Given the description of an element on the screen output the (x, y) to click on. 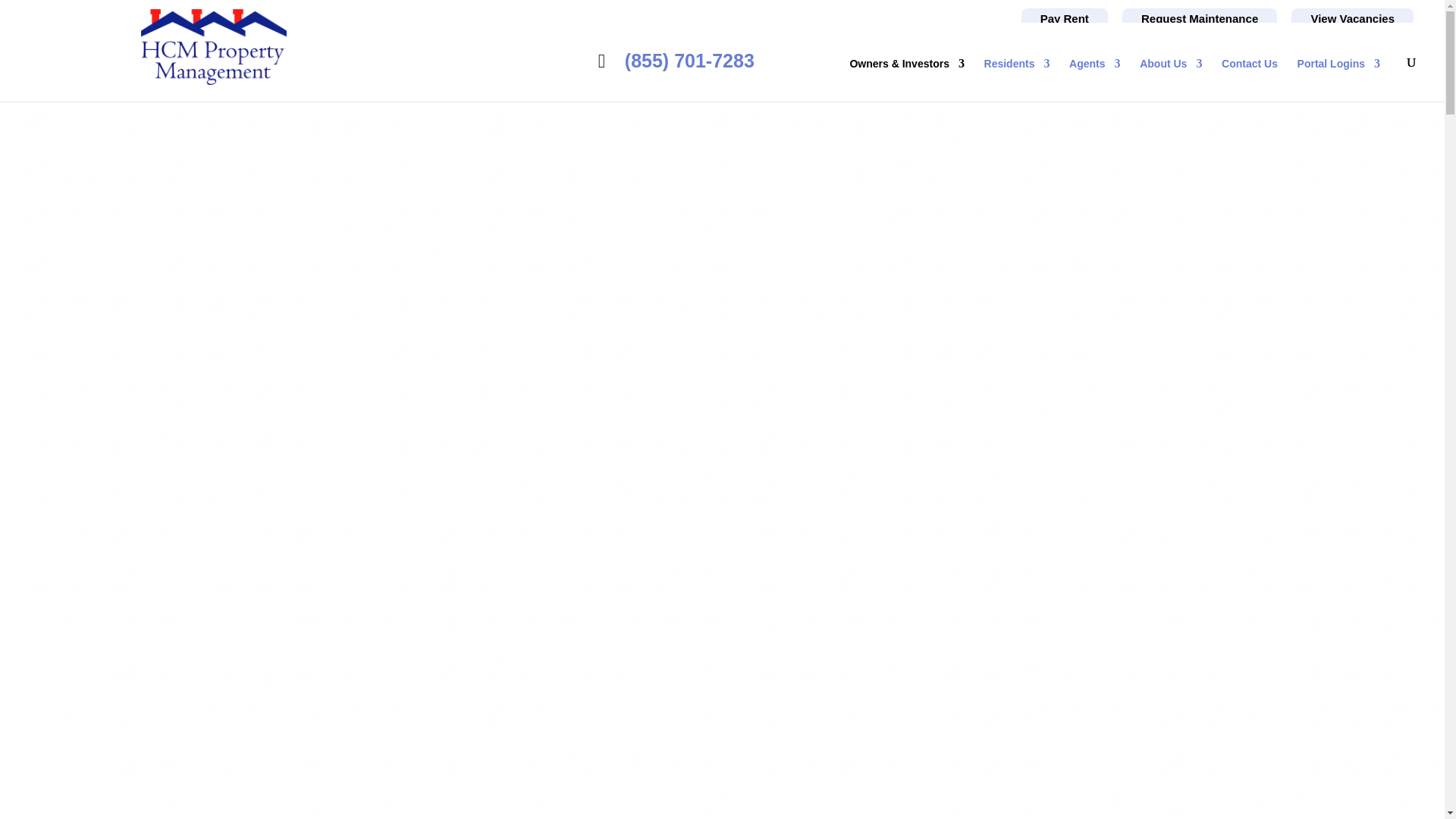
View Vacancies (1352, 18)
Request Maintenance (1199, 18)
Residents (1016, 79)
About Us (1171, 79)
Agents (1093, 79)
Pay Rent (1065, 18)
Contact Us (1249, 79)
Portal Logins (1338, 79)
